Given the description of an element on the screen output the (x, y) to click on. 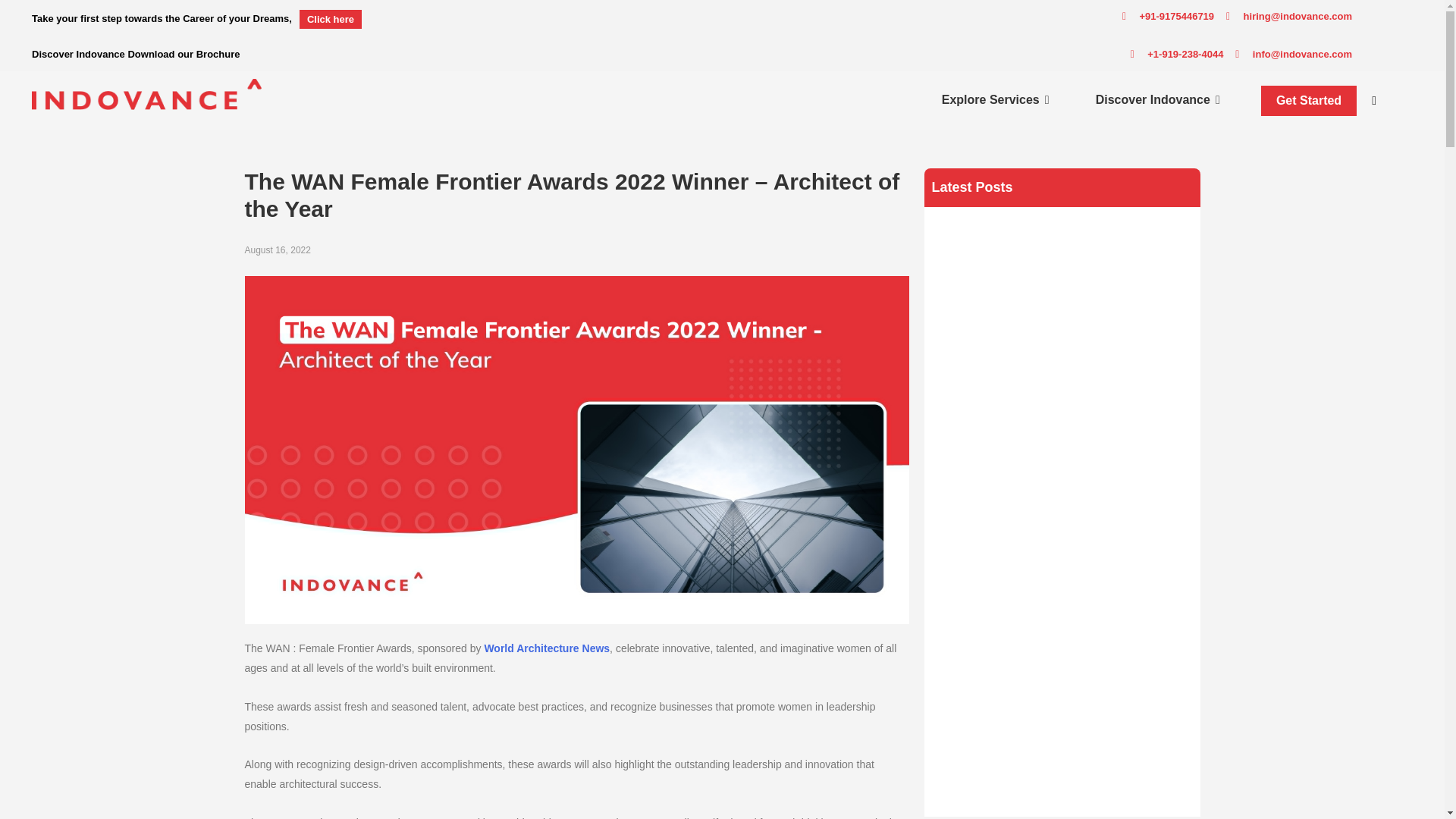
Button Two (1308, 100)
Brochure (218, 53)
Click here (330, 18)
Explore Services (990, 100)
